Given the description of an element on the screen output the (x, y) to click on. 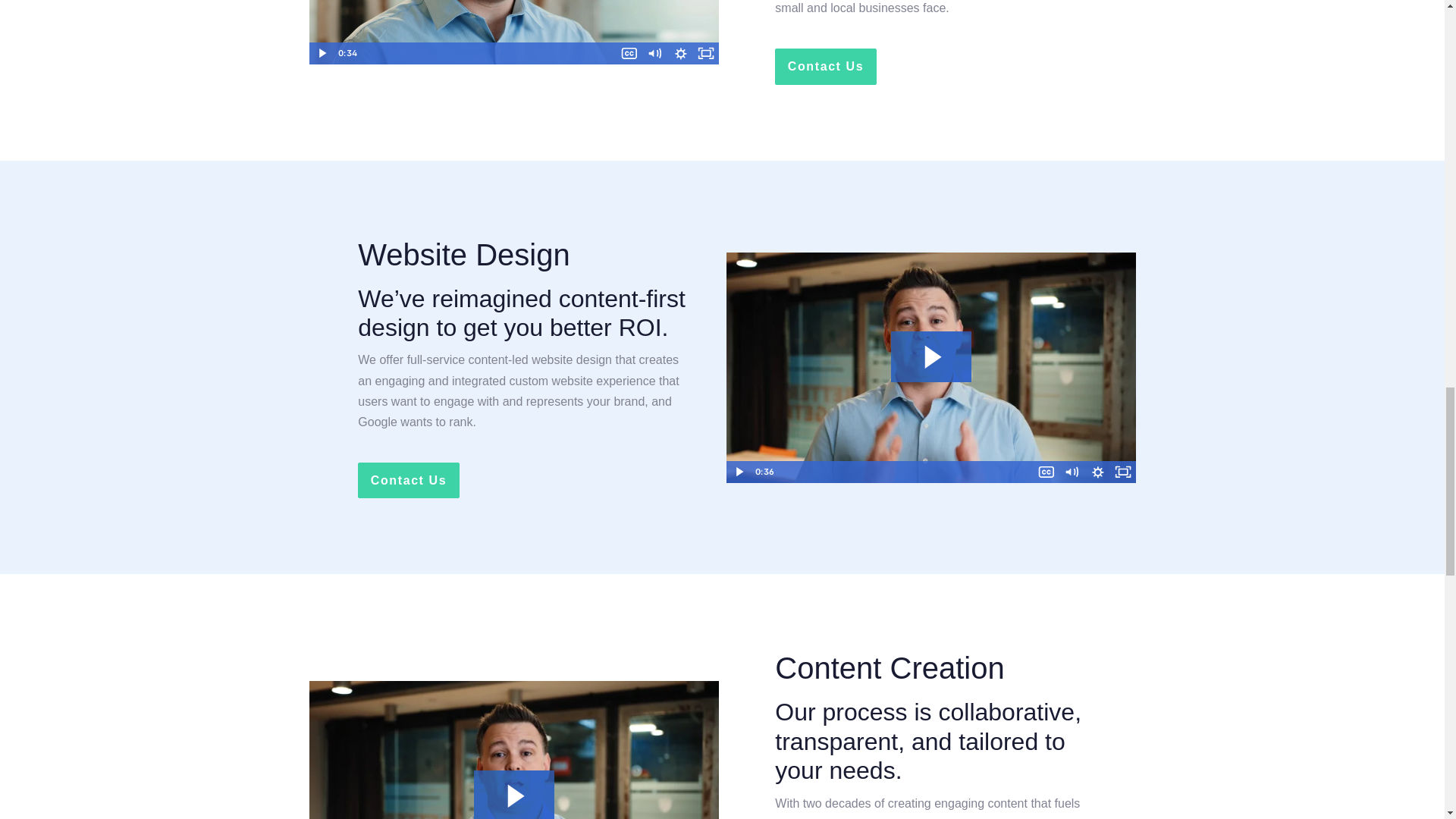
Contact (408, 479)
Contact (825, 66)
Contact Us (408, 479)
Linchpin - Web Design Video (930, 367)
Contact Us (825, 66)
Linchpin - SEO Video (513, 32)
